Given the description of an element on the screen output the (x, y) to click on. 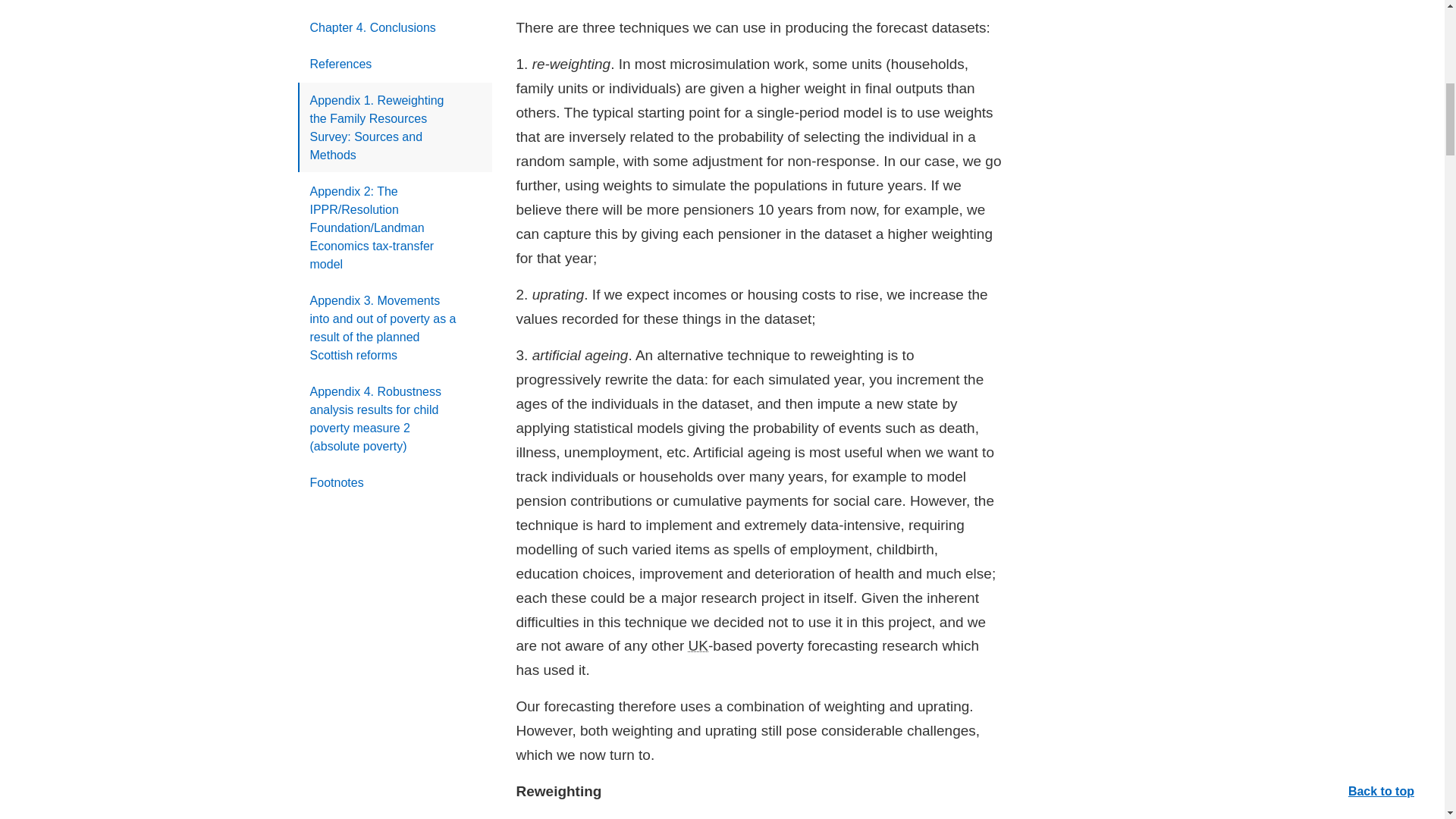
References (394, 63)
United Kingdom (697, 645)
Chapter 4. Conclusions (394, 27)
Chapter 3. Results (394, 4)
